Given the description of an element on the screen output the (x, y) to click on. 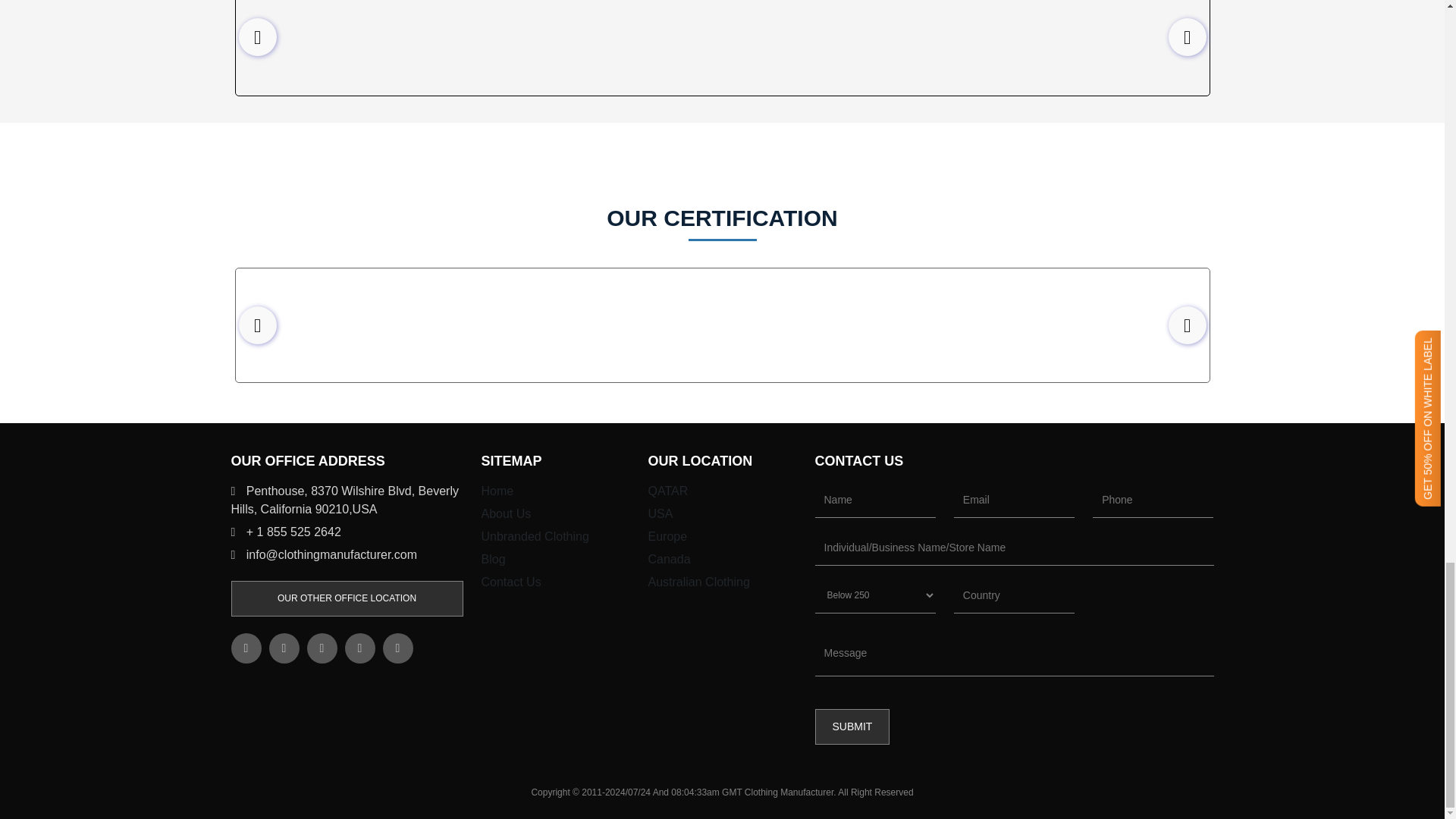
Submit (851, 726)
